Given the description of an element on the screen output the (x, y) to click on. 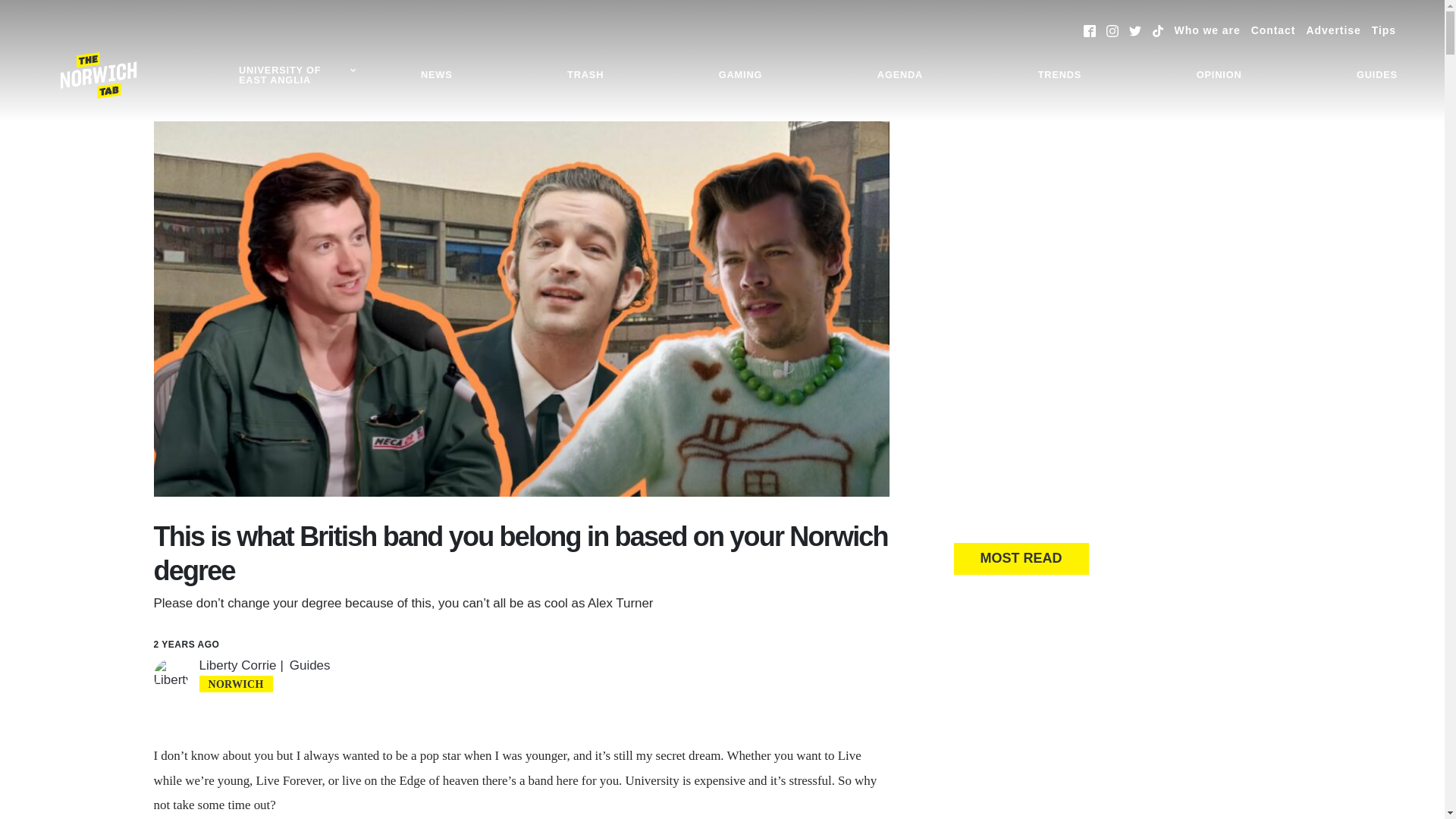
OPINION (1219, 75)
Contact (1272, 29)
Tips (1383, 29)
NEWS (436, 75)
AGENDA (900, 75)
TRENDS (1059, 75)
GUIDES (1377, 75)
Who we are (1207, 29)
GAMING (740, 75)
TRASH (585, 75)
